Given the description of an element on the screen output the (x, y) to click on. 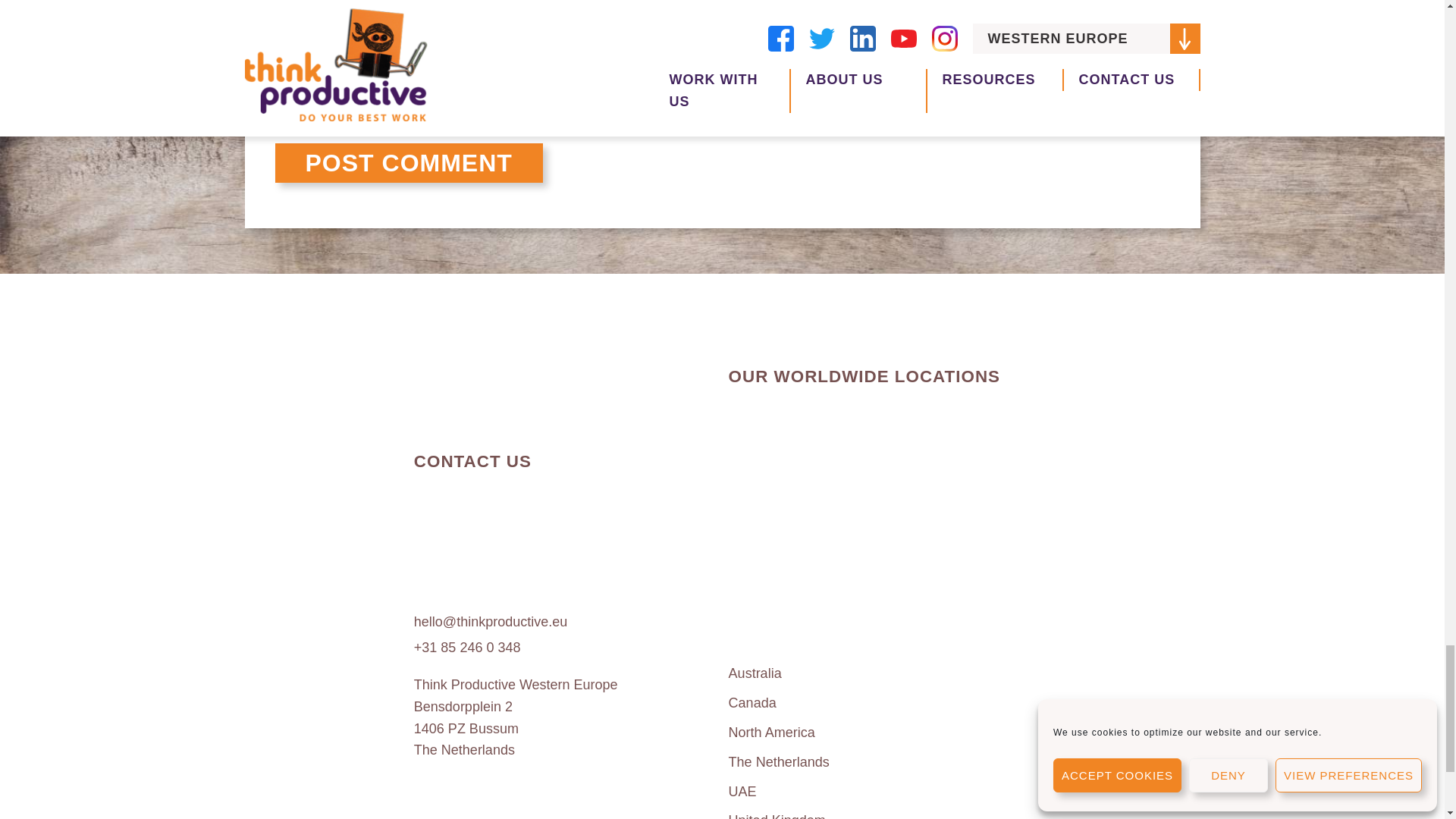
Post Comment (408, 162)
